Given the description of an element on the screen output the (x, y) to click on. 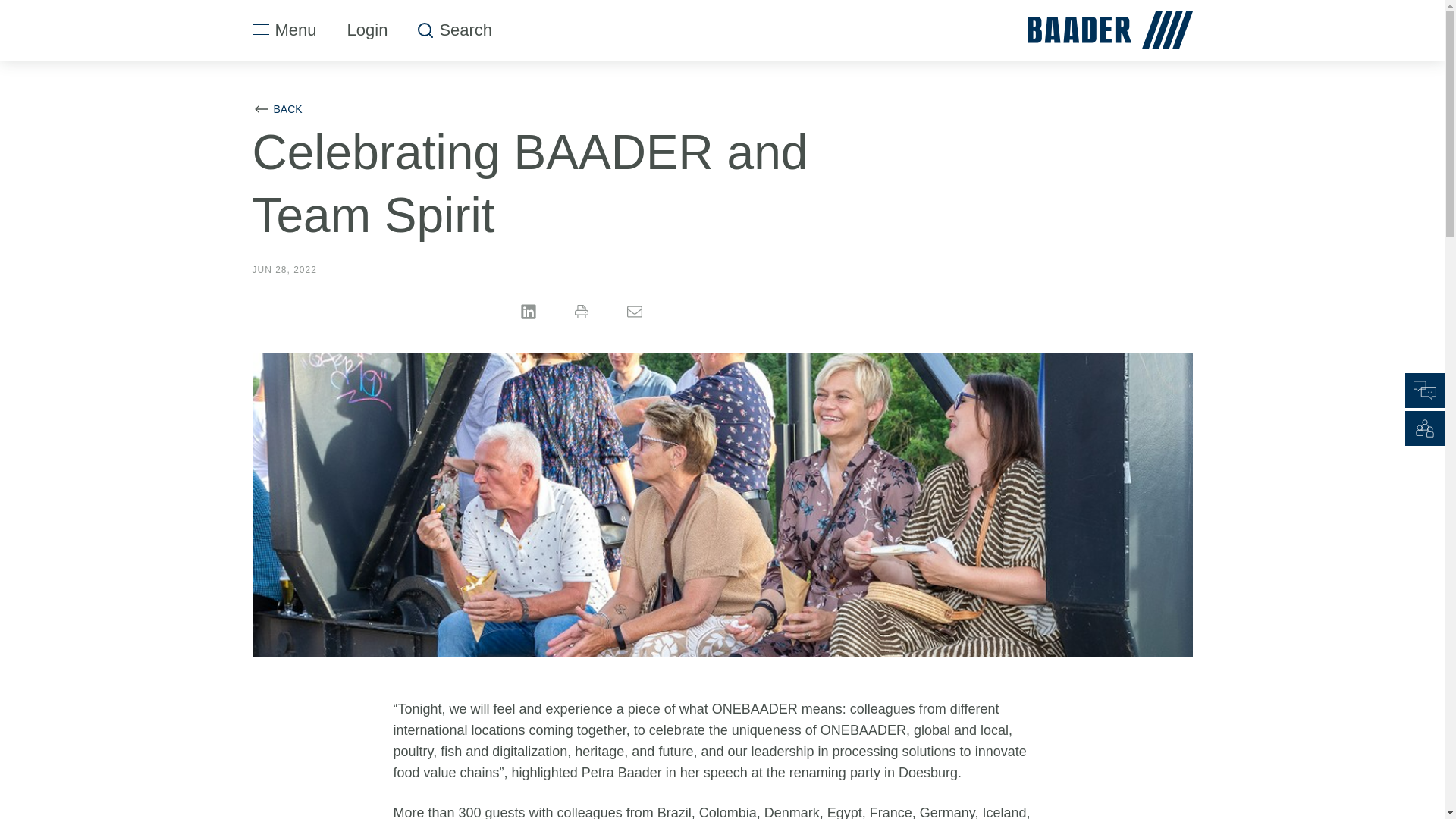
Login (367, 30)
BACK (276, 108)
